Given the description of an element on the screen output the (x, y) to click on. 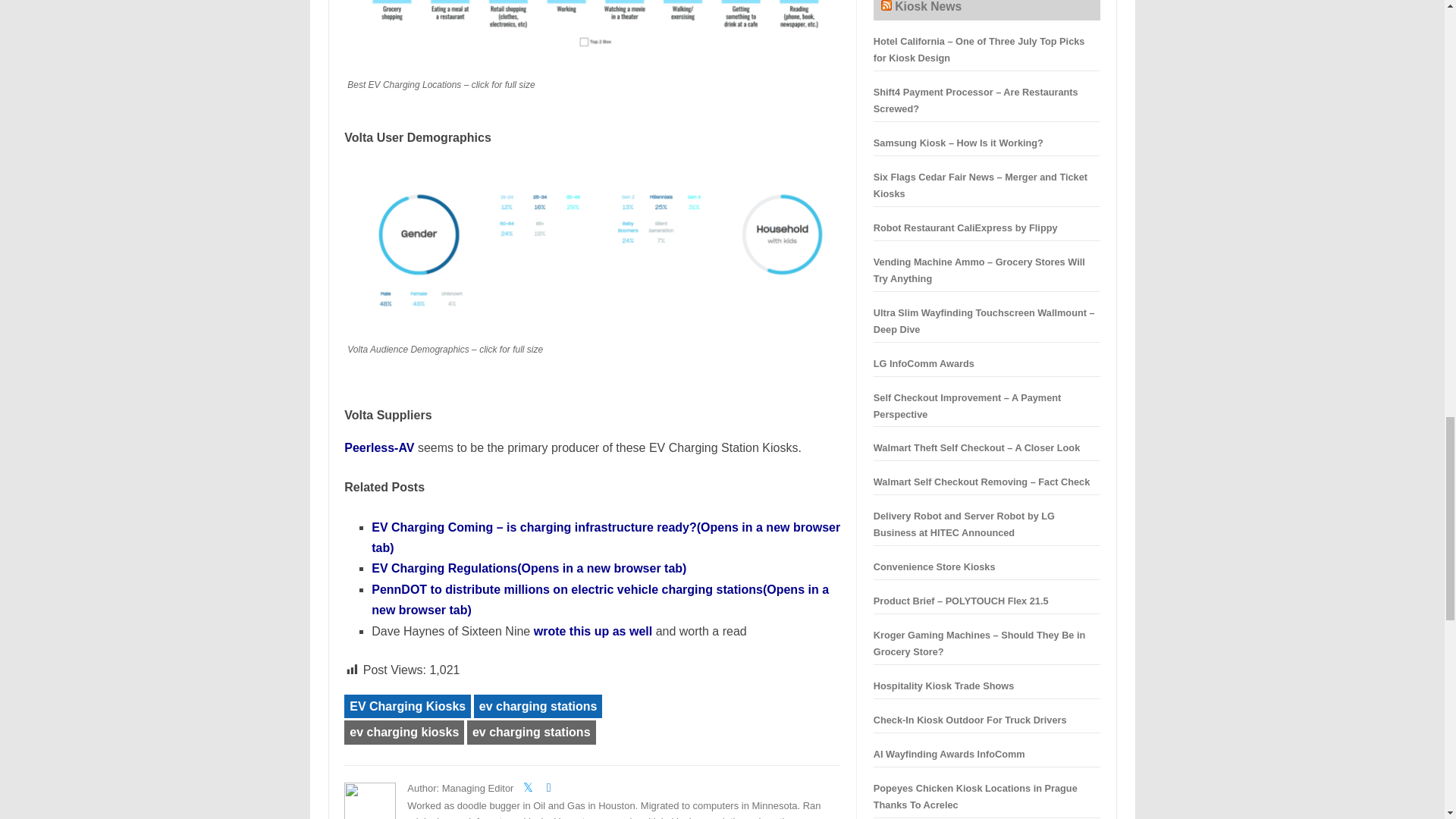
ev charging stations (531, 732)
ev charging stations (538, 706)
EV Charging Kiosks (406, 706)
wrote this up as well (593, 631)
ev charging kiosks (403, 732)
Peerless-AV (378, 447)
